Given the description of an element on the screen output the (x, y) to click on. 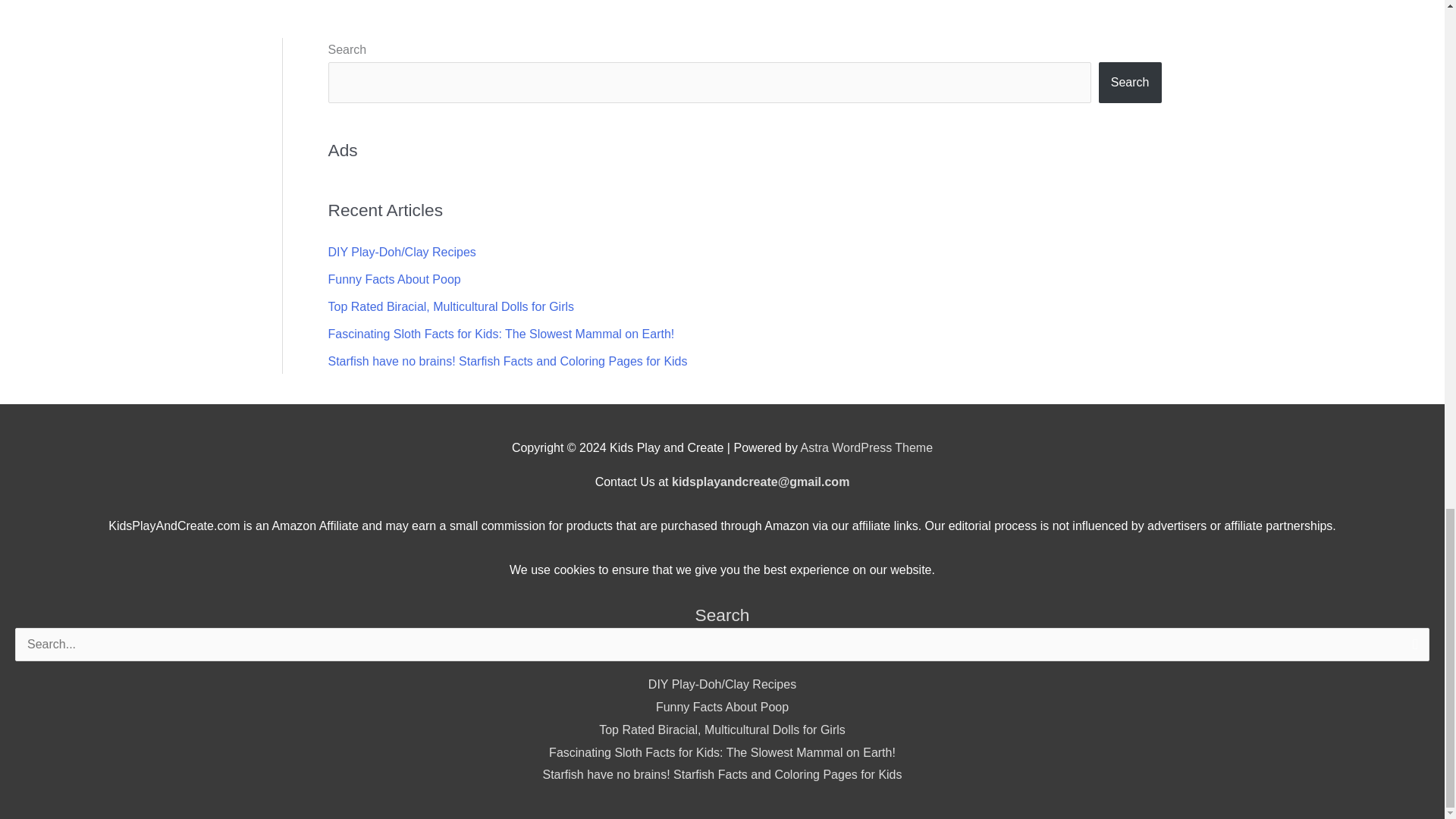
Funny Facts About Poop (393, 278)
Top Rated Biracial, Multicultural Dolls for Girls (721, 729)
Funny Facts About Poop (722, 707)
Top Rated Biracial, Multicultural Dolls for Girls (450, 306)
Astra WordPress Theme (866, 447)
Search (1130, 82)
